Given the description of an element on the screen output the (x, y) to click on. 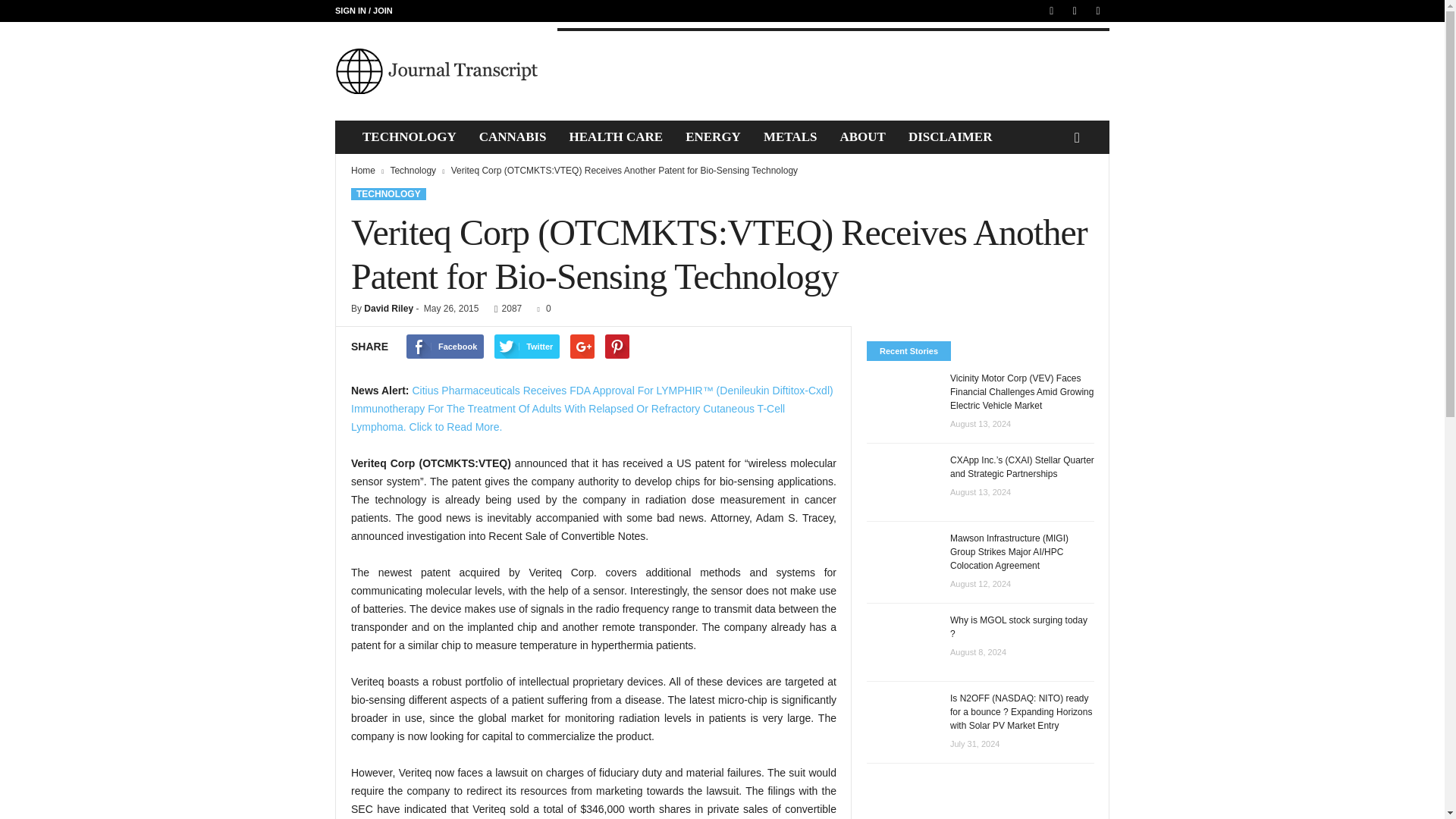
METALS (790, 136)
Journal Transcript (437, 70)
TECHNOLOGY (408, 136)
ENERGY (713, 136)
ABOUT (862, 136)
HEALTH CARE (616, 136)
View all posts in Technology (414, 170)
DISCLAIMER (950, 136)
CANNABIS (512, 136)
